Given the description of an element on the screen output the (x, y) to click on. 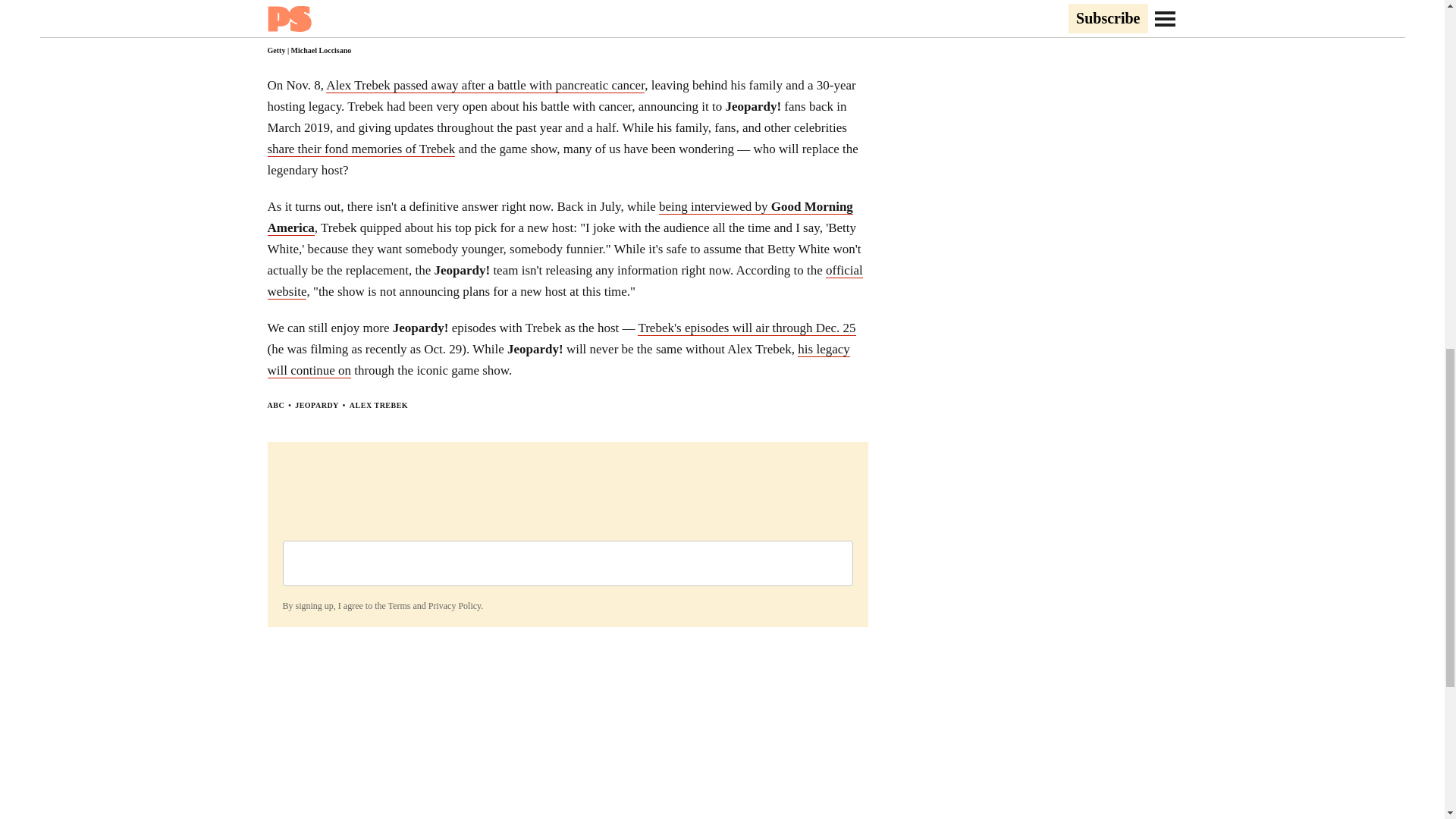
ABC (274, 405)
official website (563, 280)
Privacy Policy. (455, 605)
Trebek's episodes will air through Dec. 25 (746, 328)
ALEX TREBEK (378, 405)
Terms (399, 605)
his legacy will continue on (557, 360)
being interviewed by Good Morning America (558, 217)
JEOPARDY (317, 405)
